Given the description of an element on the screen output the (x, y) to click on. 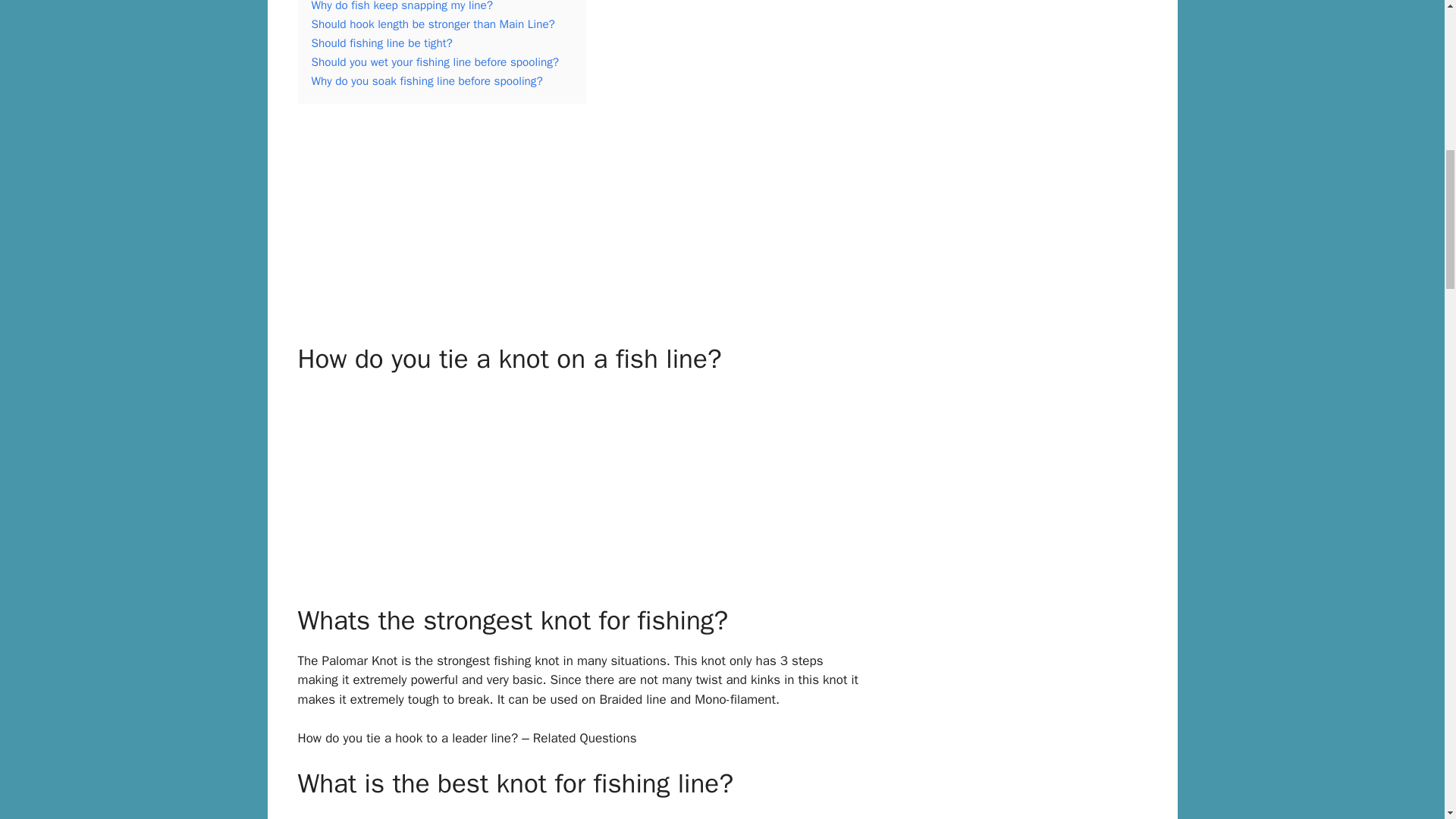
How do you tie a weight and hook on a fishing line? (579, 222)
Why do fish keep snapping my line? (402, 6)
Should you wet your fishing line before spooling? (435, 61)
Scroll back to top (1406, 719)
Should fishing line be tight? (381, 43)
Should hook length be stronger than Main Line? (432, 23)
Why do you soak fishing line before spooling? (426, 80)
How do you tie a knot on a fish line? (579, 484)
